Given the description of an element on the screen output the (x, y) to click on. 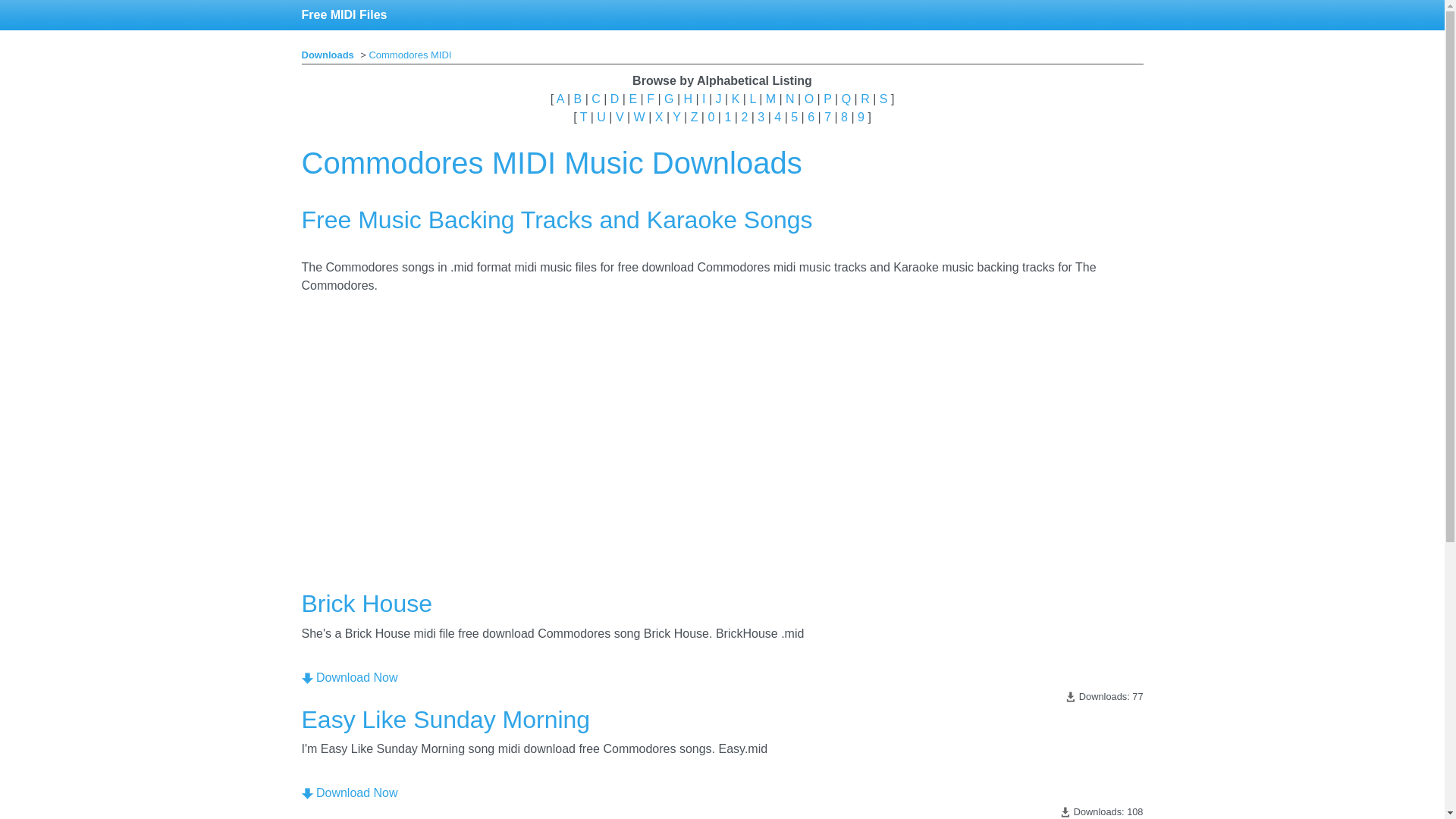
Free MIDI Files (344, 14)
Return to Free MIDI Files directory (344, 14)
Commodores MIDI (409, 54)
Download Now (349, 676)
Downloads (327, 54)
Download Easy Like Sunday Morning (307, 793)
Download Brick House (307, 677)
